Given the description of an element on the screen output the (x, y) to click on. 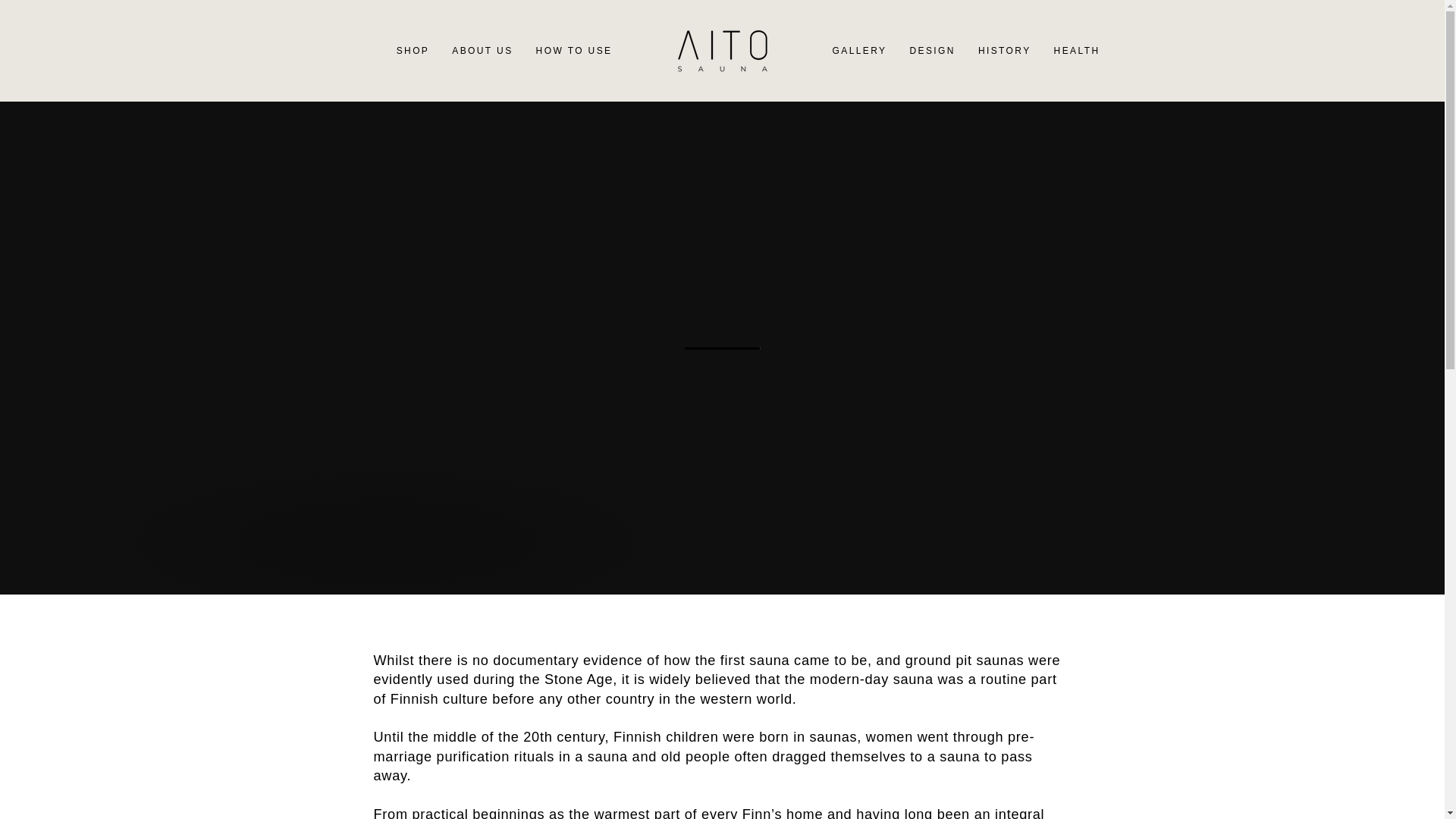
GALLERY (859, 50)
HEALTH (1077, 50)
SHOP (413, 50)
HISTORY (1004, 50)
ABOUT US (482, 50)
HOW TO USE (574, 50)
DESIGN (932, 50)
